Given the description of an element on the screen output the (x, y) to click on. 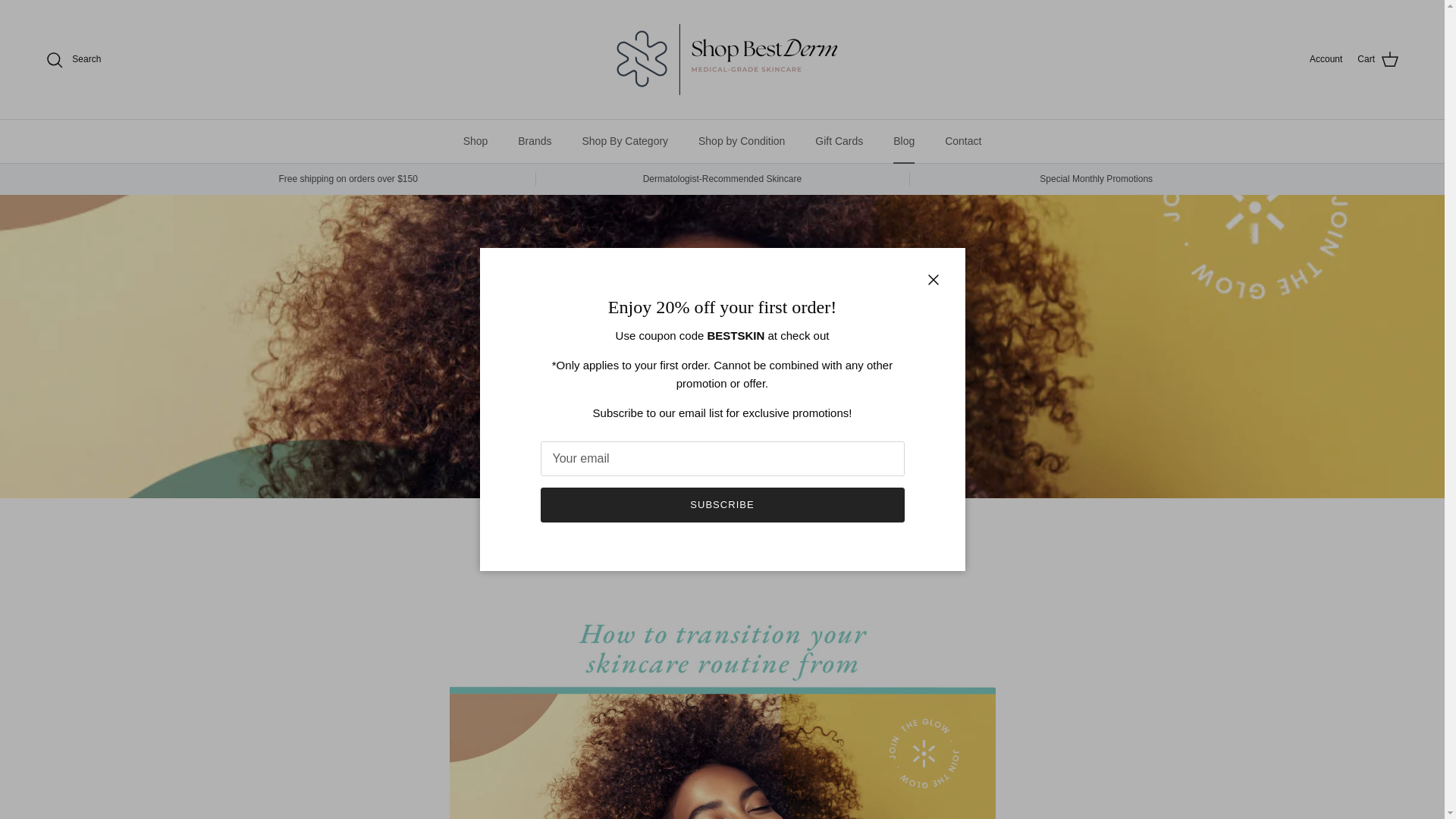
Search (72, 58)
Brands (533, 140)
Cart (1377, 59)
Account (1325, 59)
Shop (475, 140)
Shop by Condition (740, 140)
Shop BestDerm (721, 59)
Shop By Category (624, 140)
